Given the description of an element on the screen output the (x, y) to click on. 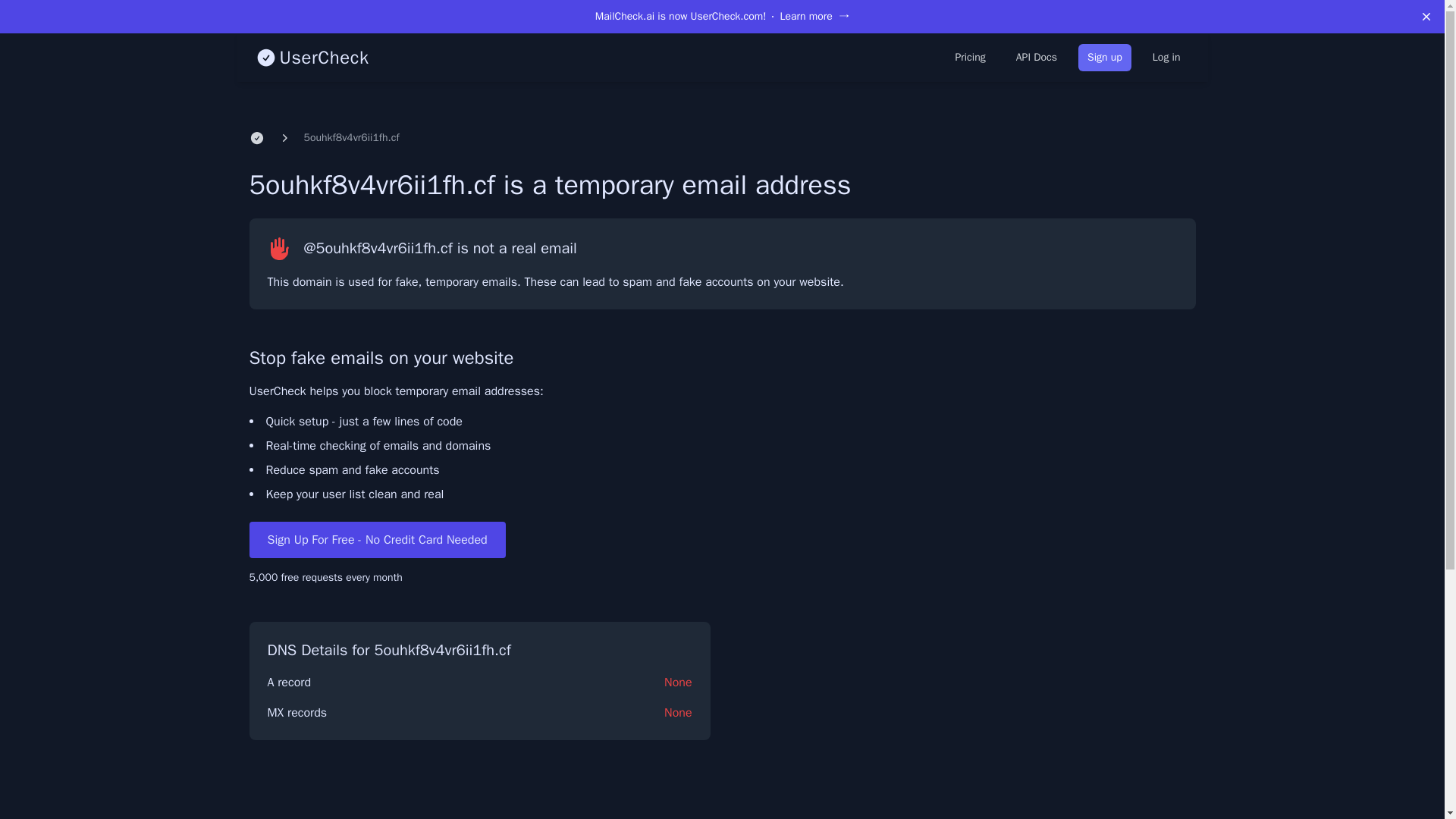
Dismiss (1425, 16)
5ouhkf8v4vr6ii1fh.cf (350, 137)
Sign Up For Free - No Credit Card Needed (376, 539)
Log in (1165, 57)
UserCheck (311, 57)
Home (255, 137)
API Docs (1036, 57)
Pricing (969, 57)
Sign up (1104, 57)
